Given the description of an element on the screen output the (x, y) to click on. 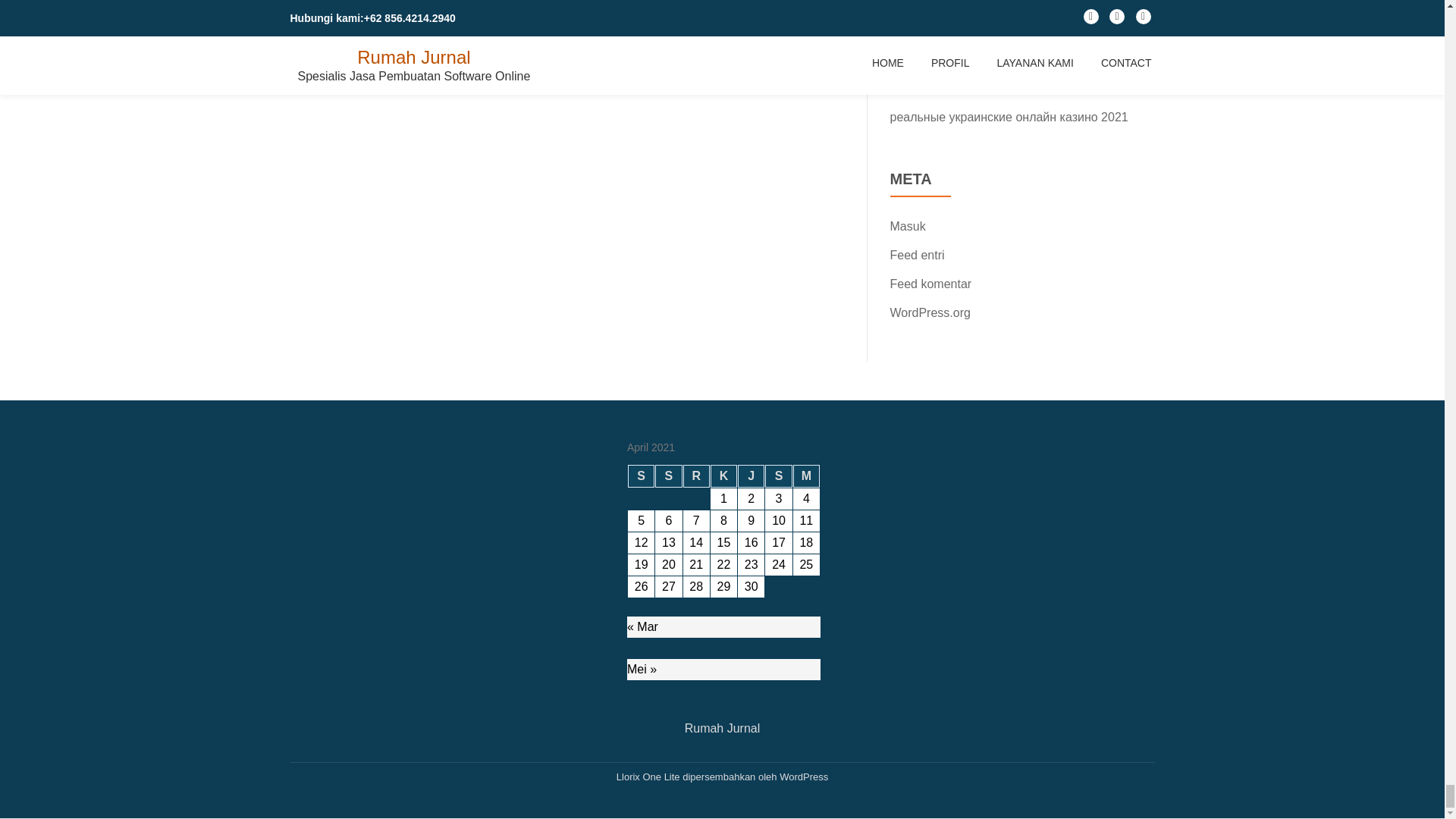
Jumat (751, 476)
Selasa (668, 476)
Kamis (723, 476)
Rabu (696, 476)
Minggu (806, 476)
Senin (640, 476)
Sabtu (778, 476)
